Given the description of an element on the screen output the (x, y) to click on. 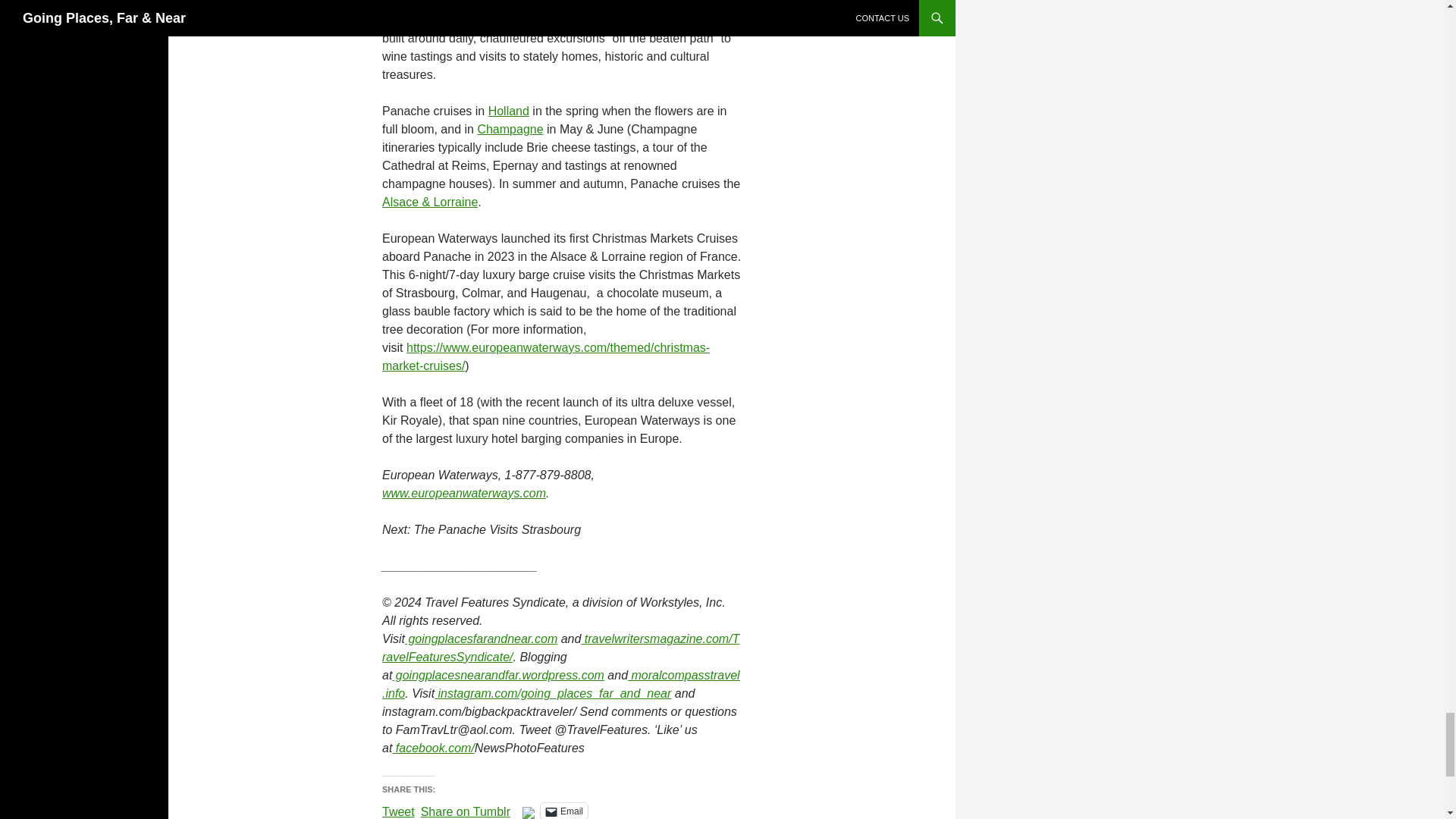
Tweet (397, 809)
Share on Tumblr (465, 809)
Share on Tumblr (465, 809)
 moralcompasstravel.info (560, 684)
 goingplacesfarandnear.com (480, 638)
Holland (508, 110)
www.europeanwaterways.com (463, 492)
 goingplacesnearandfar.wordpress.com (497, 675)
Champagne (510, 128)
Click to email a link to a friend (564, 811)
